Given the description of an element on the screen output the (x, y) to click on. 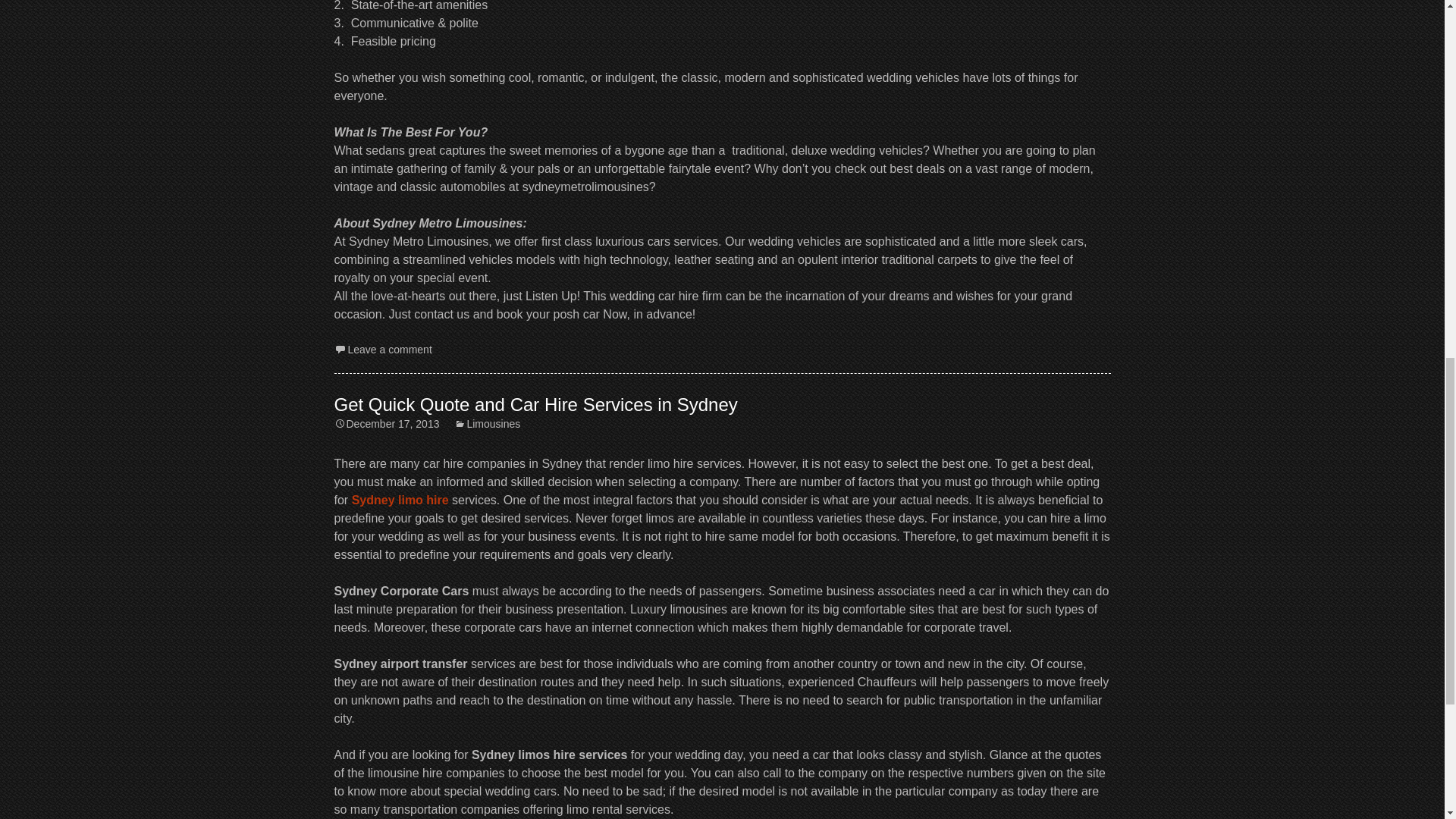
Get Quick Quote and Car Hire Services in Sydney (534, 404)
Limousines (486, 423)
December 17, 2013 (386, 423)
Permalink to Get Quick Quote and Car Hire Services in Sydney (386, 423)
Sydney limo hire (400, 499)
View all posts in Limousines (486, 423)
Leave a comment (381, 349)
